Given the description of an element on the screen output the (x, y) to click on. 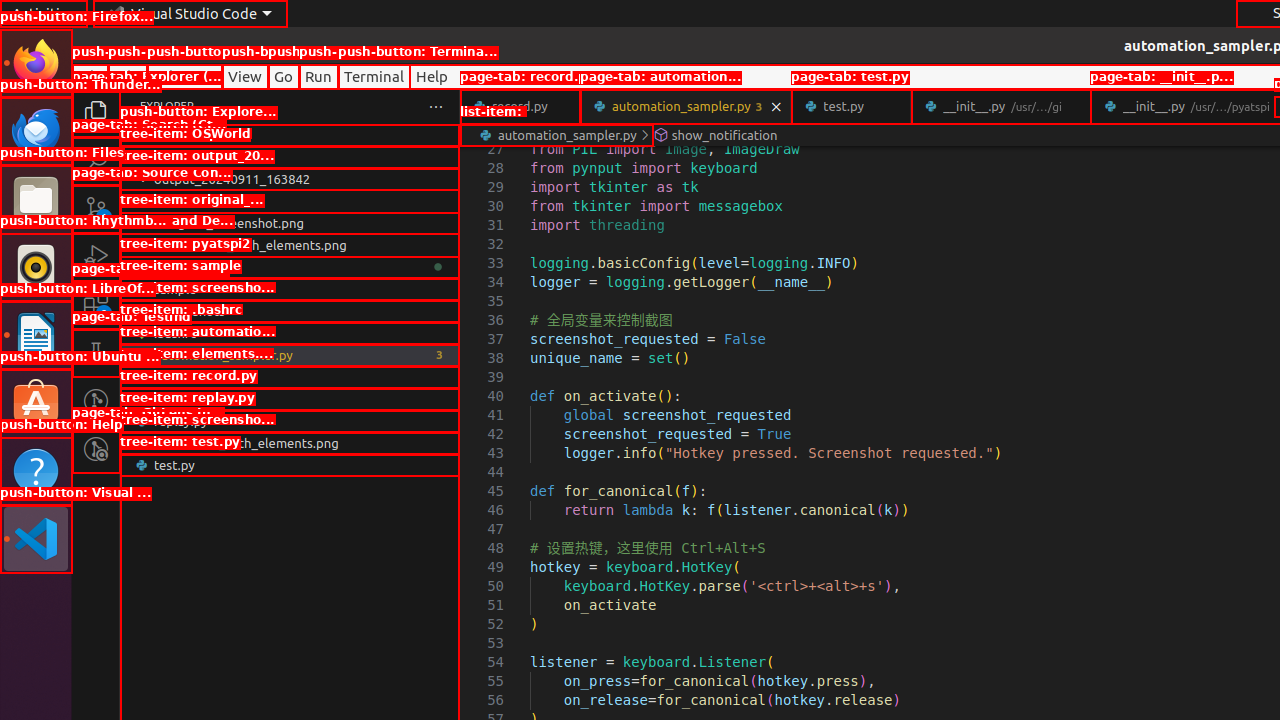
Explorer (Ctrl+Shift+E) Element type: page-tab (96, 113)
File Element type: push-button (90, 76)
Extensions (Ctrl+Shift+X) - 2 require update Element type: page-tab (96, 305)
OSWorld Element type: tree-item (289, 157)
Search (Ctrl+Shift+F) Element type: page-tab (96, 160)
